Given the description of an element on the screen output the (x, y) to click on. 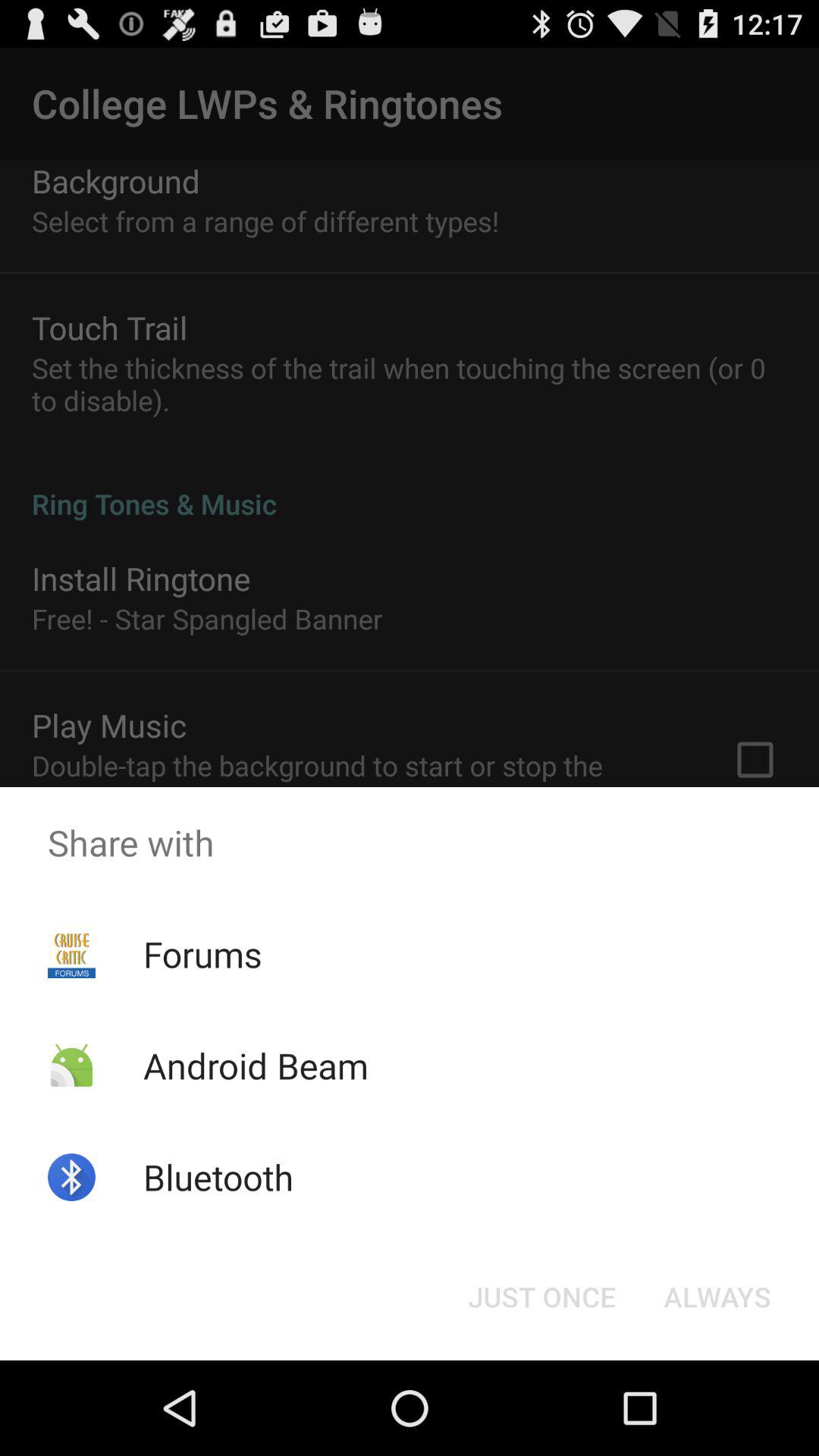
swipe until bluetooth item (218, 1176)
